Given the description of an element on the screen output the (x, y) to click on. 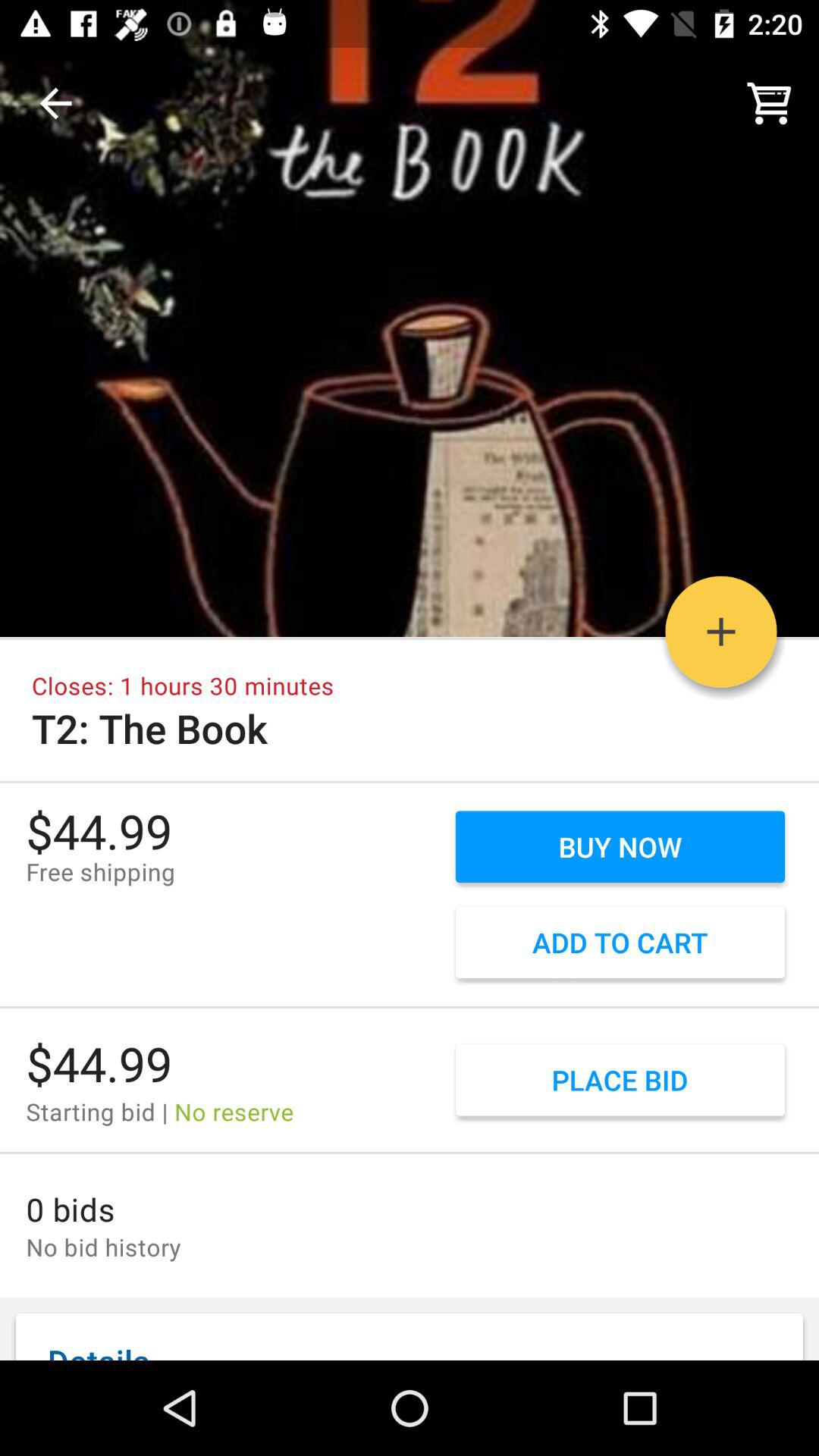
select the option buy now above the add to cart (620, 847)
